Given the description of an element on the screen output the (x, y) to click on. 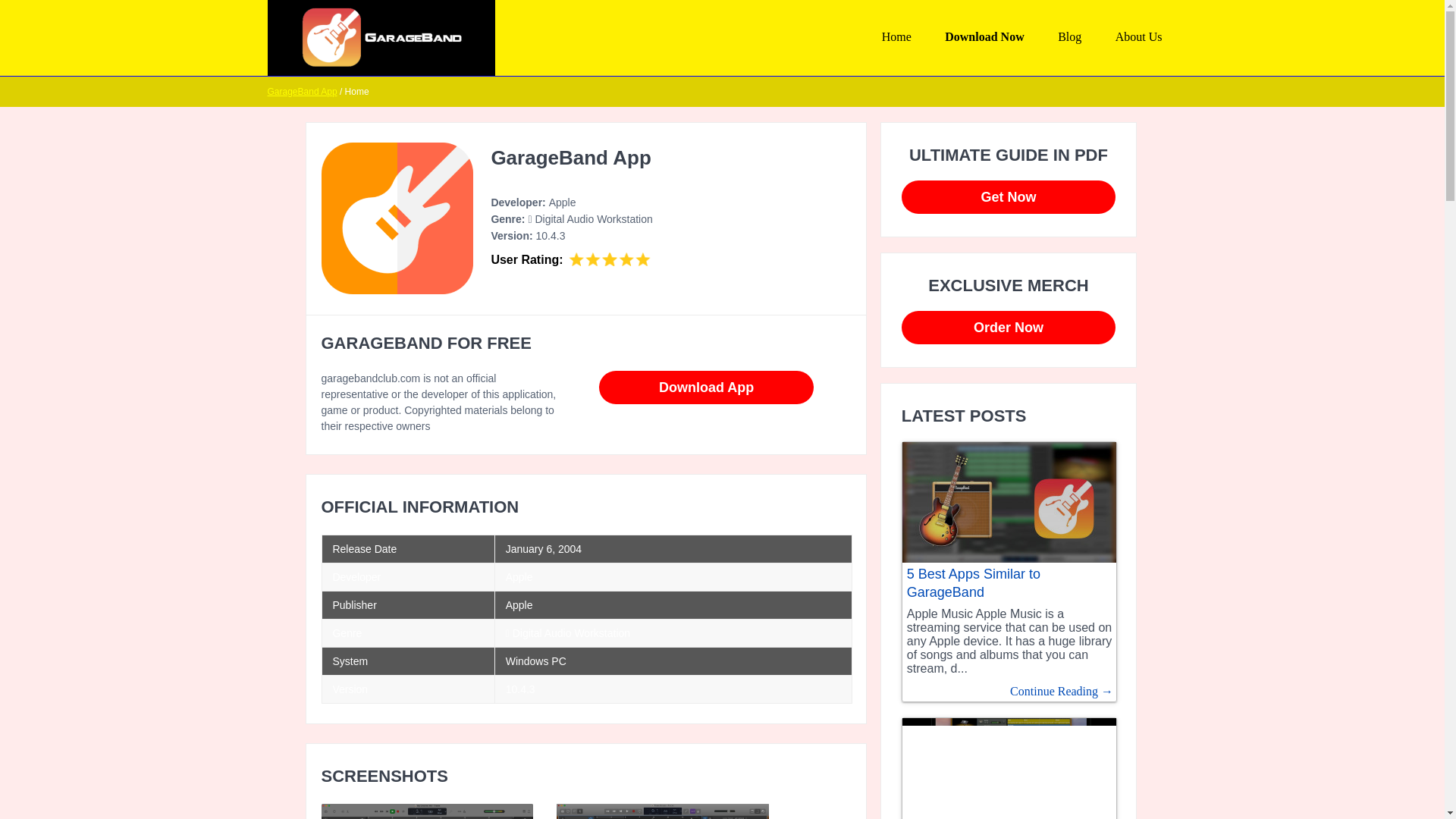
About Us (1138, 36)
Download App (705, 387)
GarageBand App (301, 91)
Download Now (983, 36)
Home (896, 36)
Get Now (1008, 196)
Order Now (1008, 327)
Blog (1069, 36)
